Given the description of an element on the screen output the (x, y) to click on. 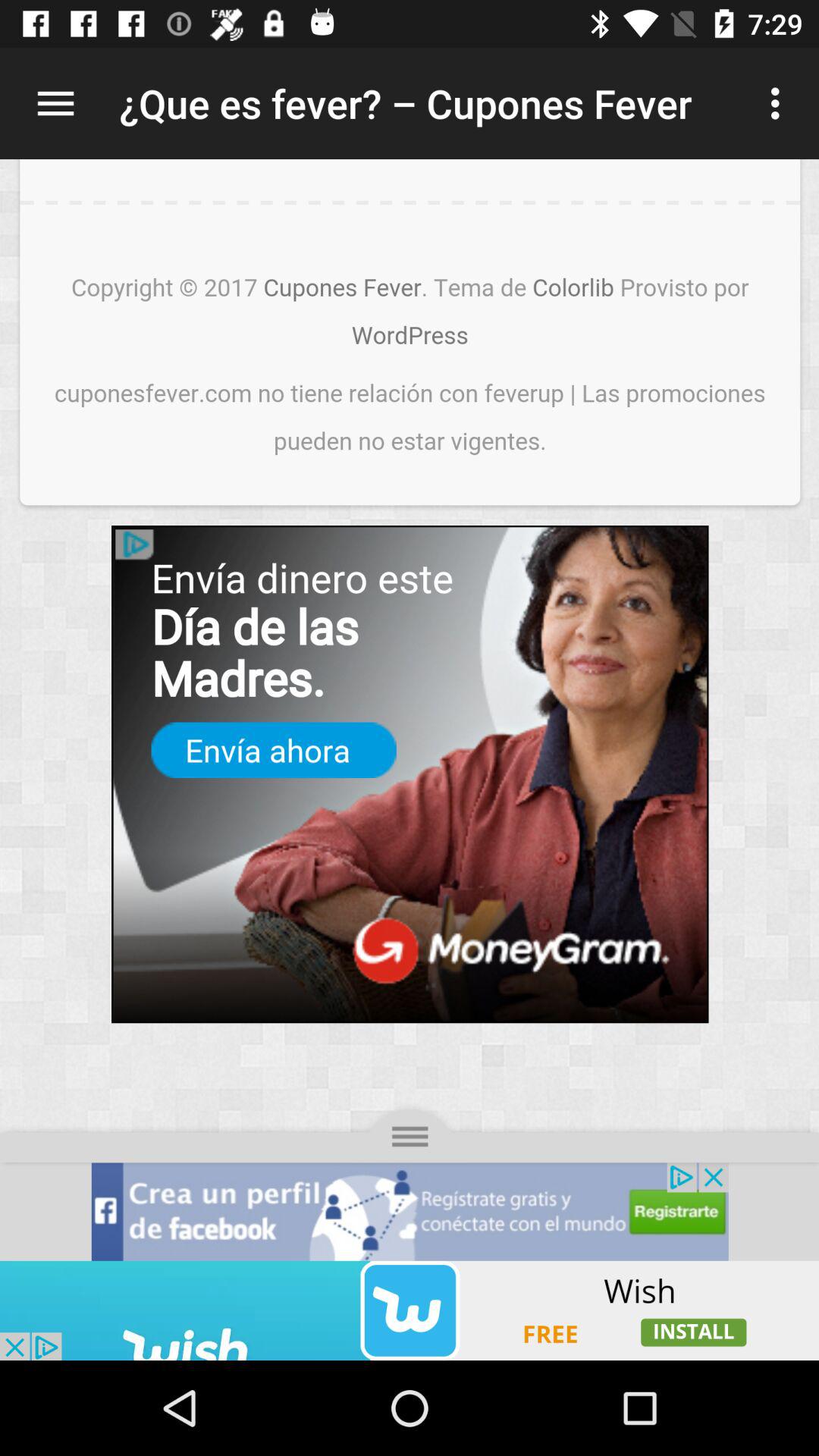
advertising (409, 1310)
